Given the description of an element on the screen output the (x, y) to click on. 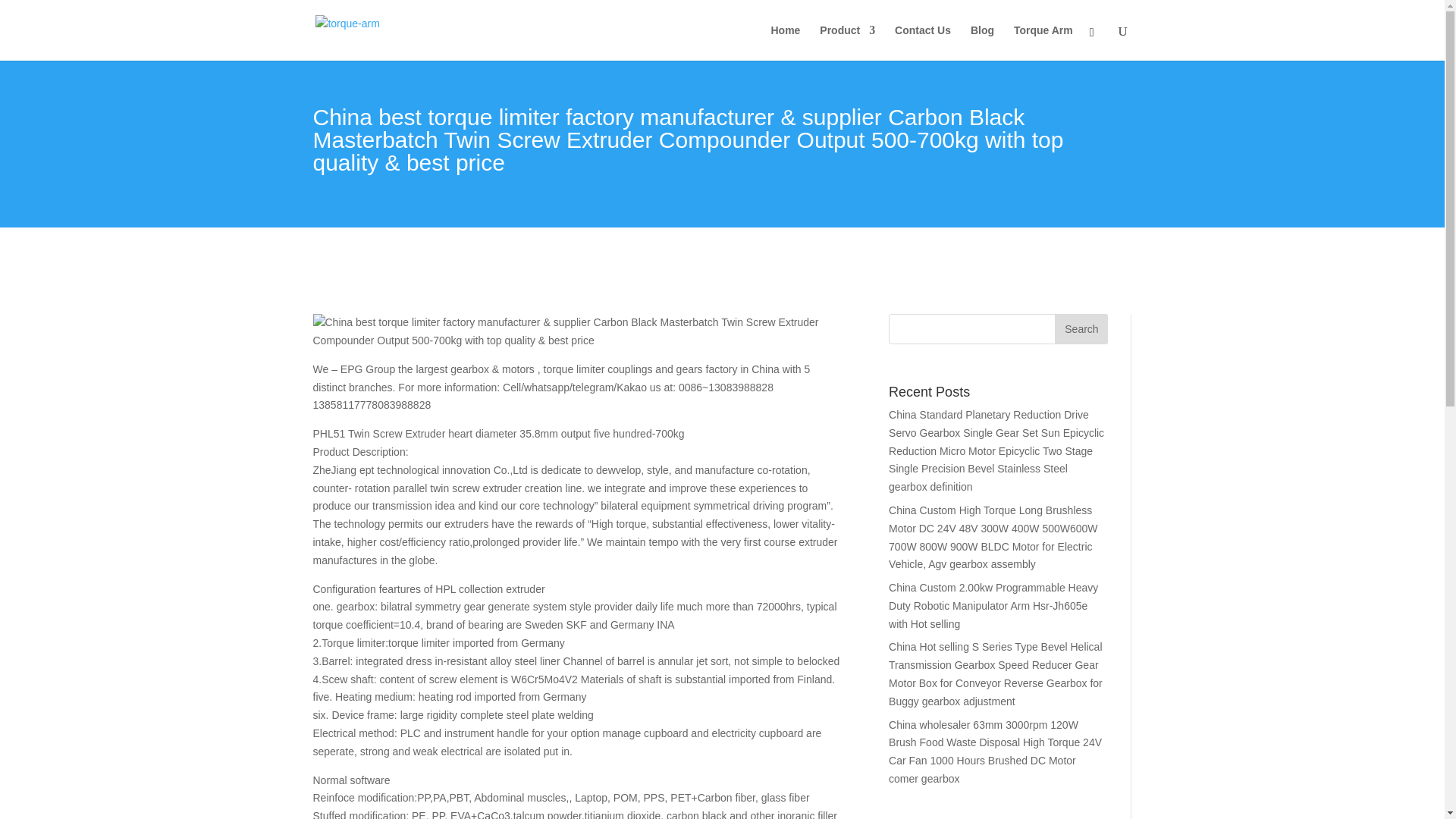
Contact Us (922, 42)
Search (1081, 328)
Product (847, 42)
Torque Arm (1043, 42)
Search (1081, 328)
